Given the description of an element on the screen output the (x, y) to click on. 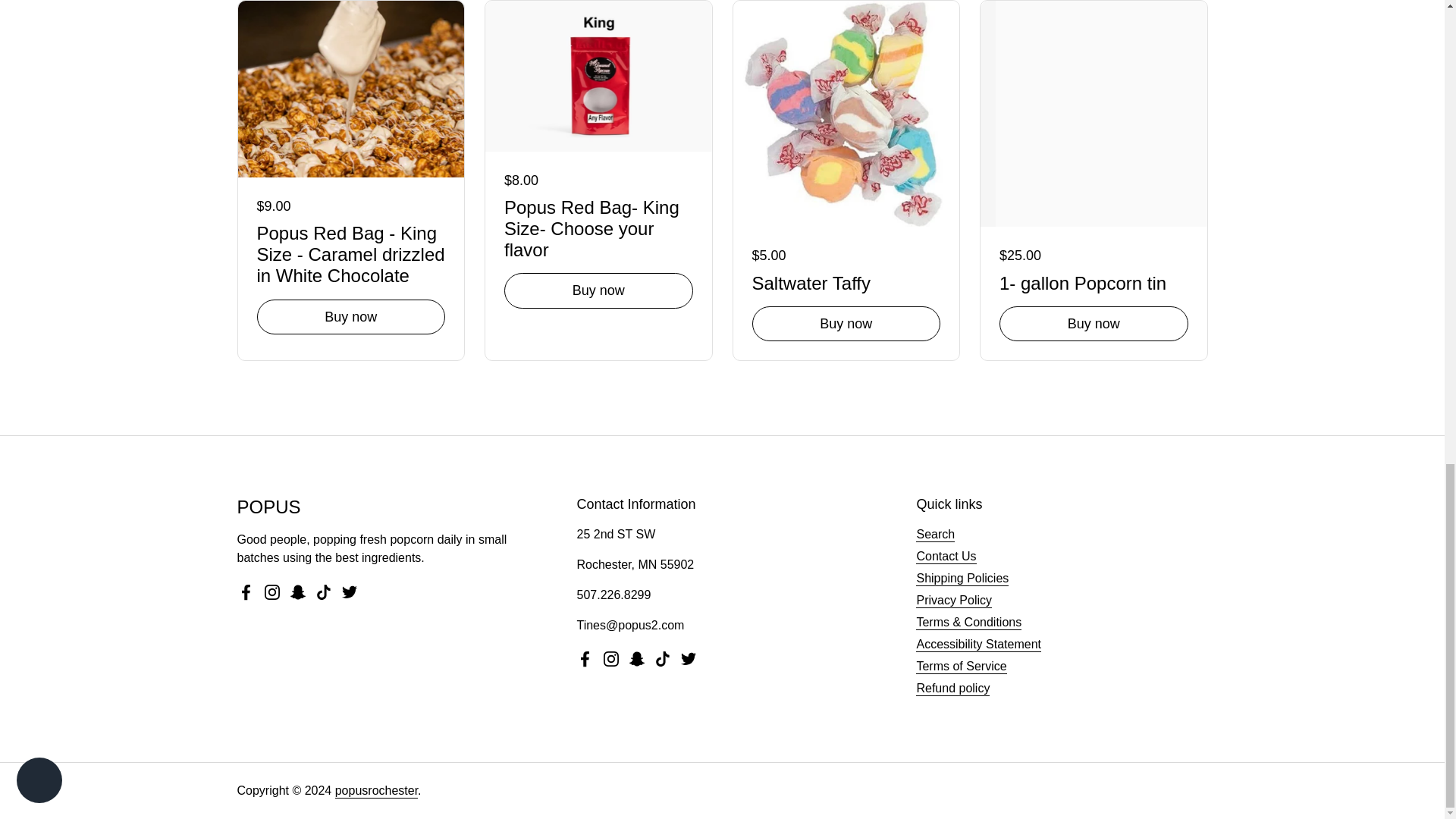
Popus Red Bag- King Size- Choose your flavor (598, 226)
1- gallon Popcorn tin (1093, 280)
Saltwater Taffy (846, 280)
